Given the description of an element on the screen output the (x, y) to click on. 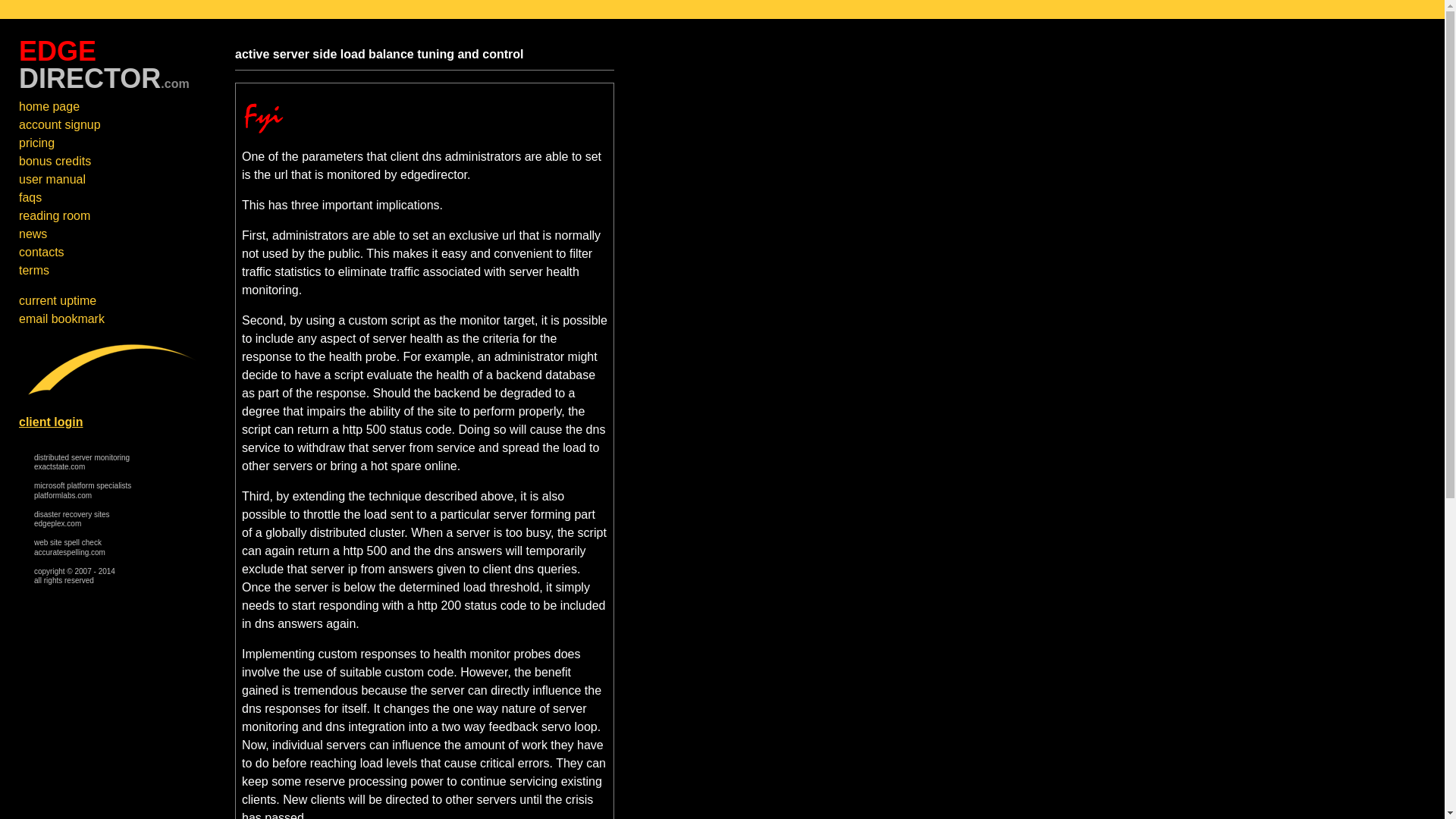
free credits (54, 160)
account signup (59, 124)
contacts (41, 251)
web site spell check service (81, 462)
faqs (68, 547)
distributed server monitoring services (30, 196)
home page (81, 462)
